Given the description of an element on the screen output the (x, y) to click on. 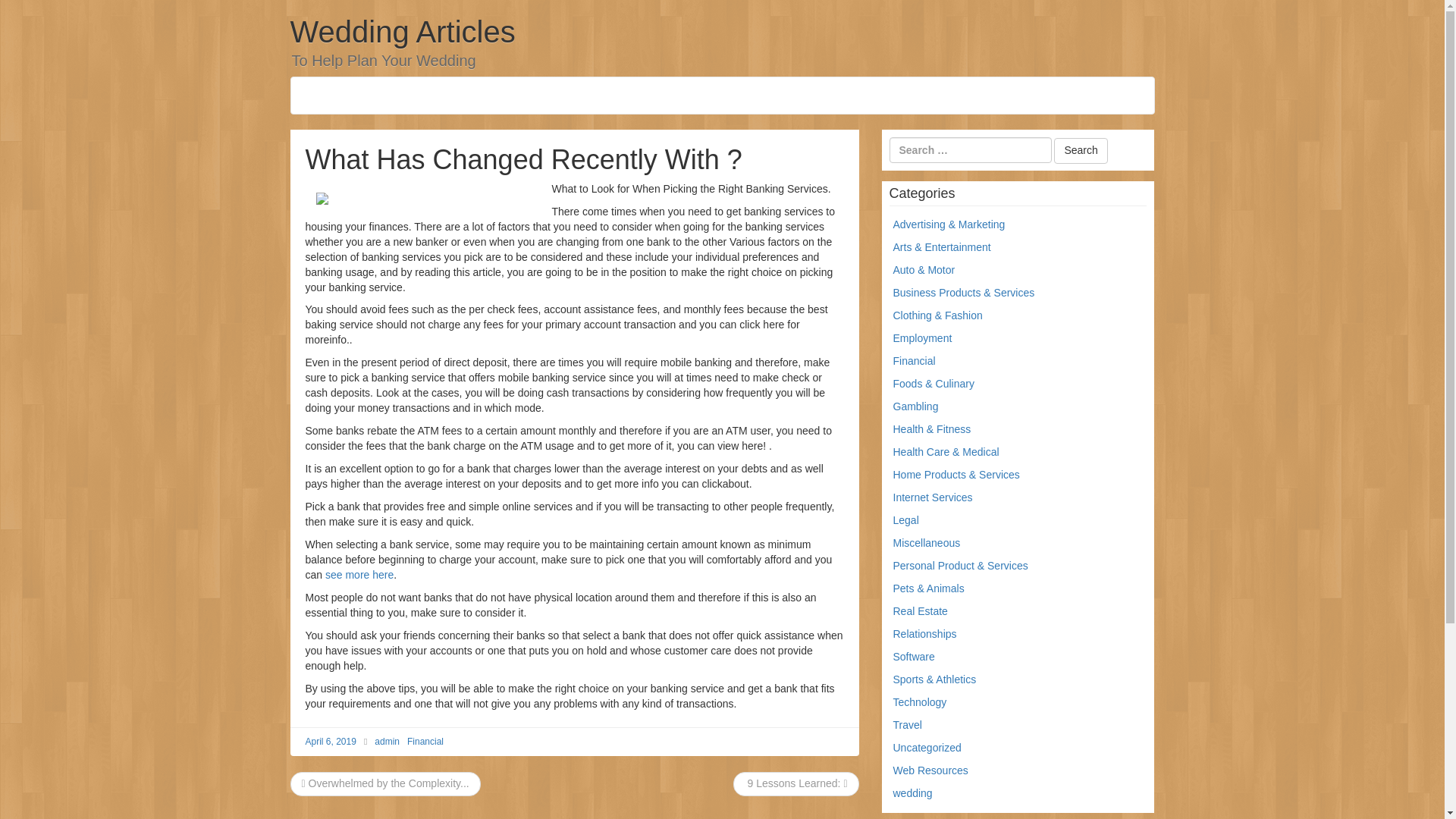
Real Estate (920, 611)
Uncategorized (926, 747)
April 6, 2019 (329, 741)
Search (1080, 150)
Financial (914, 360)
Relationships (924, 633)
Search (1080, 150)
admin (386, 741)
Wedding Articles (402, 31)
Wedding Articles (402, 31)
Travel (907, 725)
wedding (913, 793)
see more here (358, 574)
Legal (905, 520)
Web Resources (930, 770)
